Given the description of an element on the screen output the (x, y) to click on. 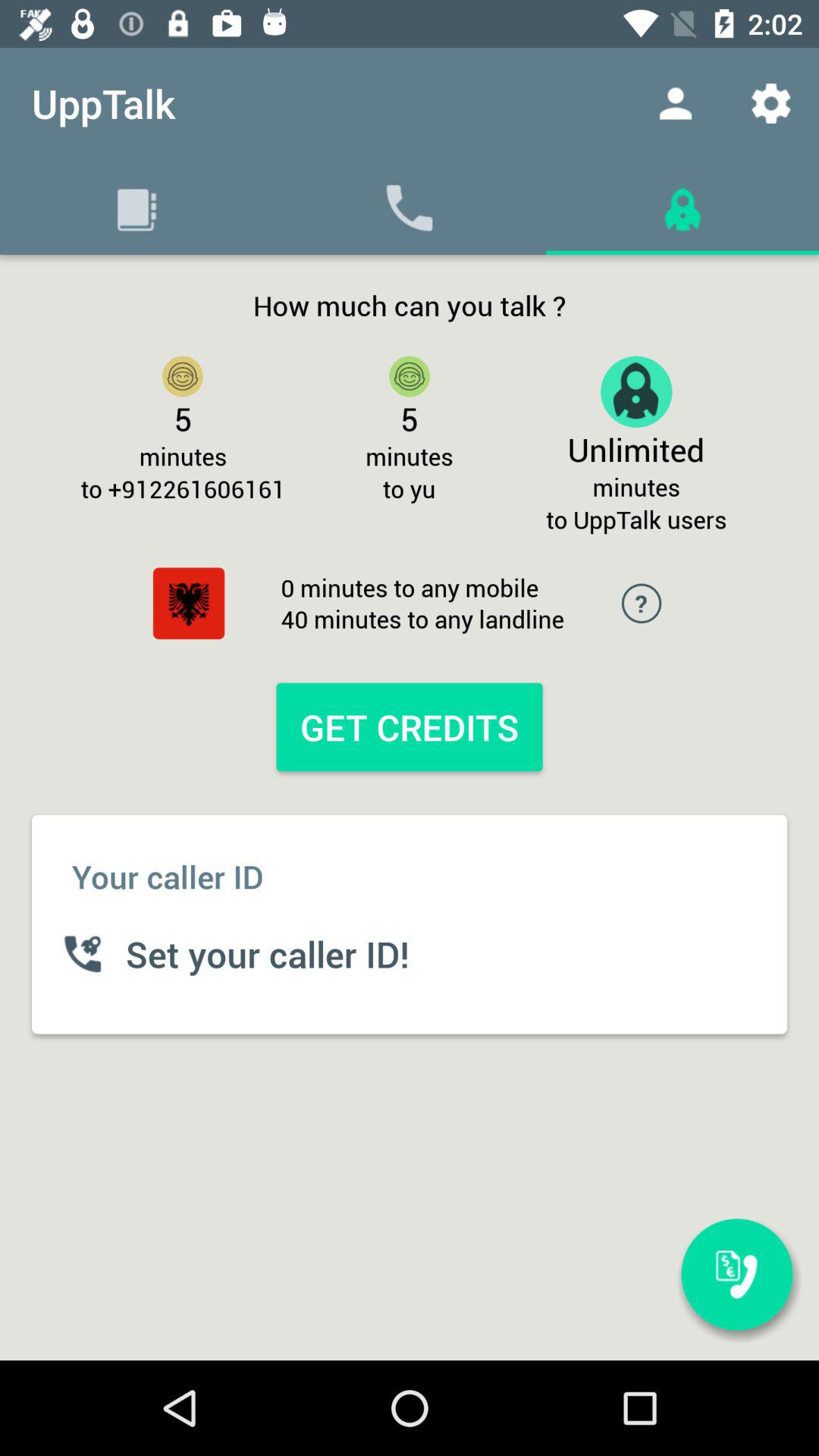
choose item next to the upptalk icon (675, 103)
